Given the description of an element on the screen output the (x, y) to click on. 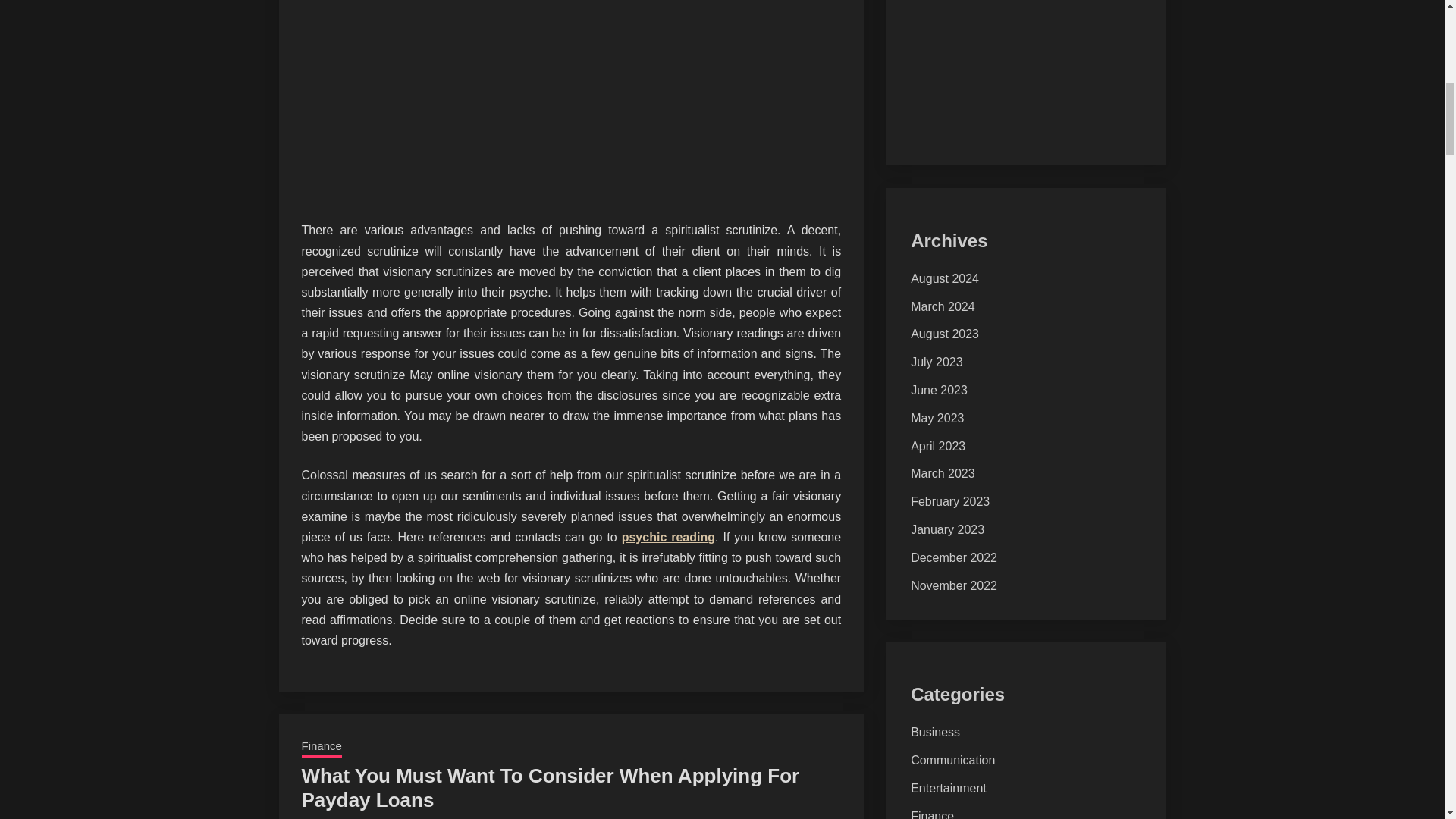
psychic reading (667, 536)
Finance (321, 747)
